Given the description of an element on the screen output the (x, y) to click on. 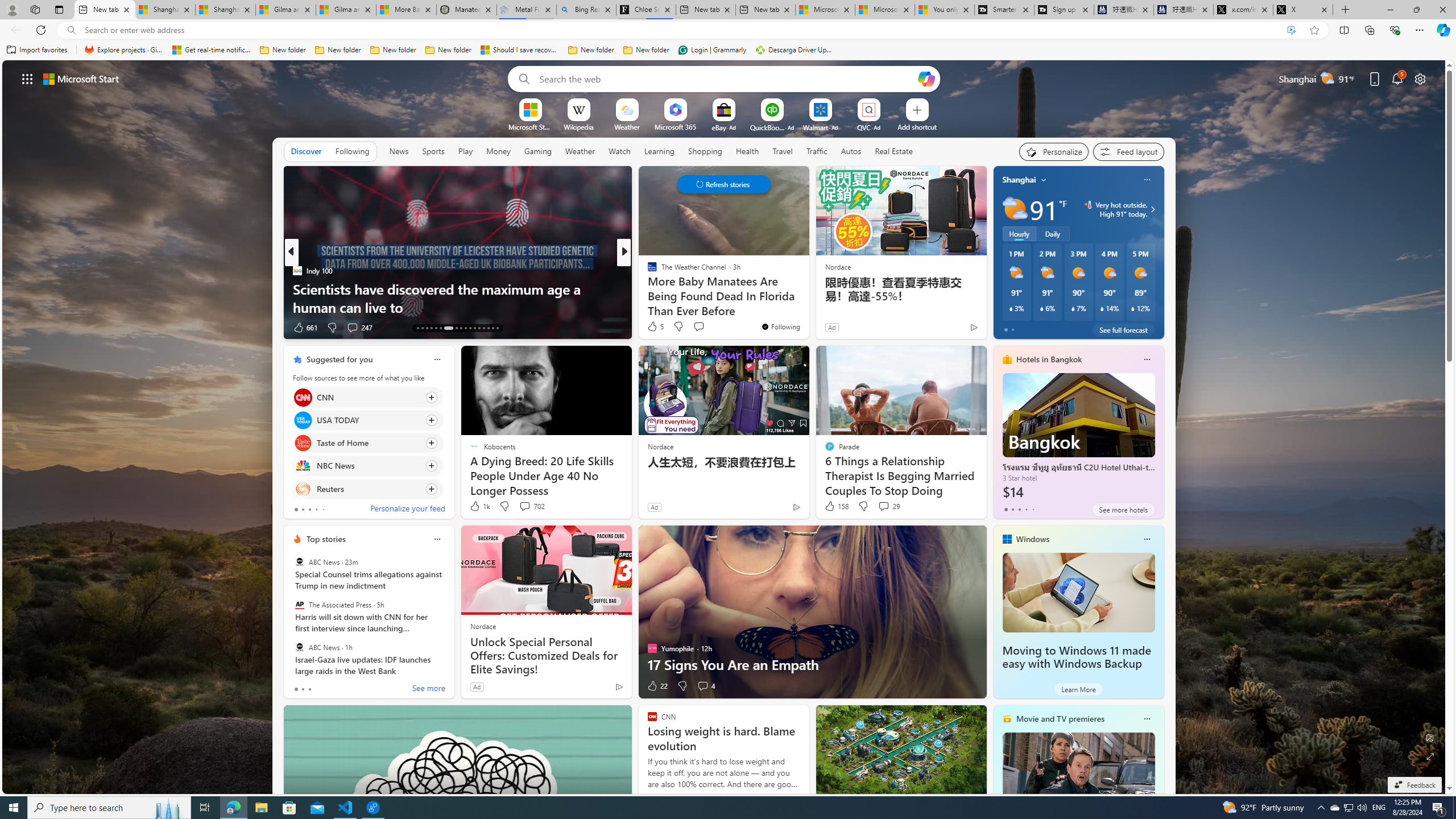
Traffic (816, 151)
151 Like (654, 327)
Travel (782, 151)
Partly sunny (1014, 208)
Wikipedia (578, 126)
How to Survive (647, 288)
Indy 100 (296, 270)
